Given the description of an element on the screen output the (x, y) to click on. 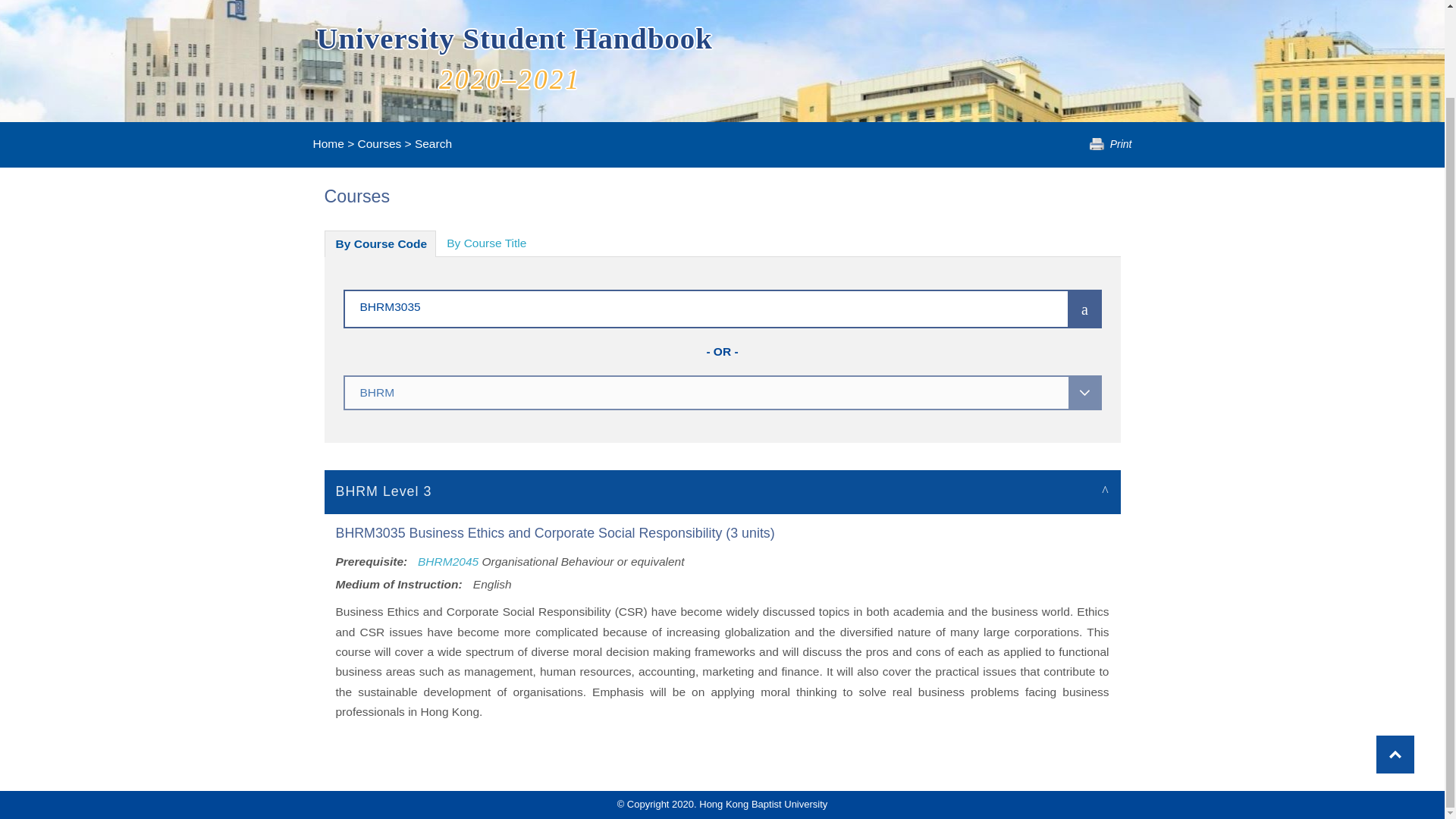
BHRM2045 (448, 561)
Scroll To Top (1394, 655)
Courses (379, 143)
Home (328, 143)
Scroll To Top (1394, 655)
BHRM3035 (683, 305)
Scroll To Top (1394, 655)
BHRM3035 (683, 305)
BHRM Level 3 (722, 491)
By Course Code (381, 244)
By Course Title (486, 243)
Print (1110, 143)
